Given the description of an element on the screen output the (x, y) to click on. 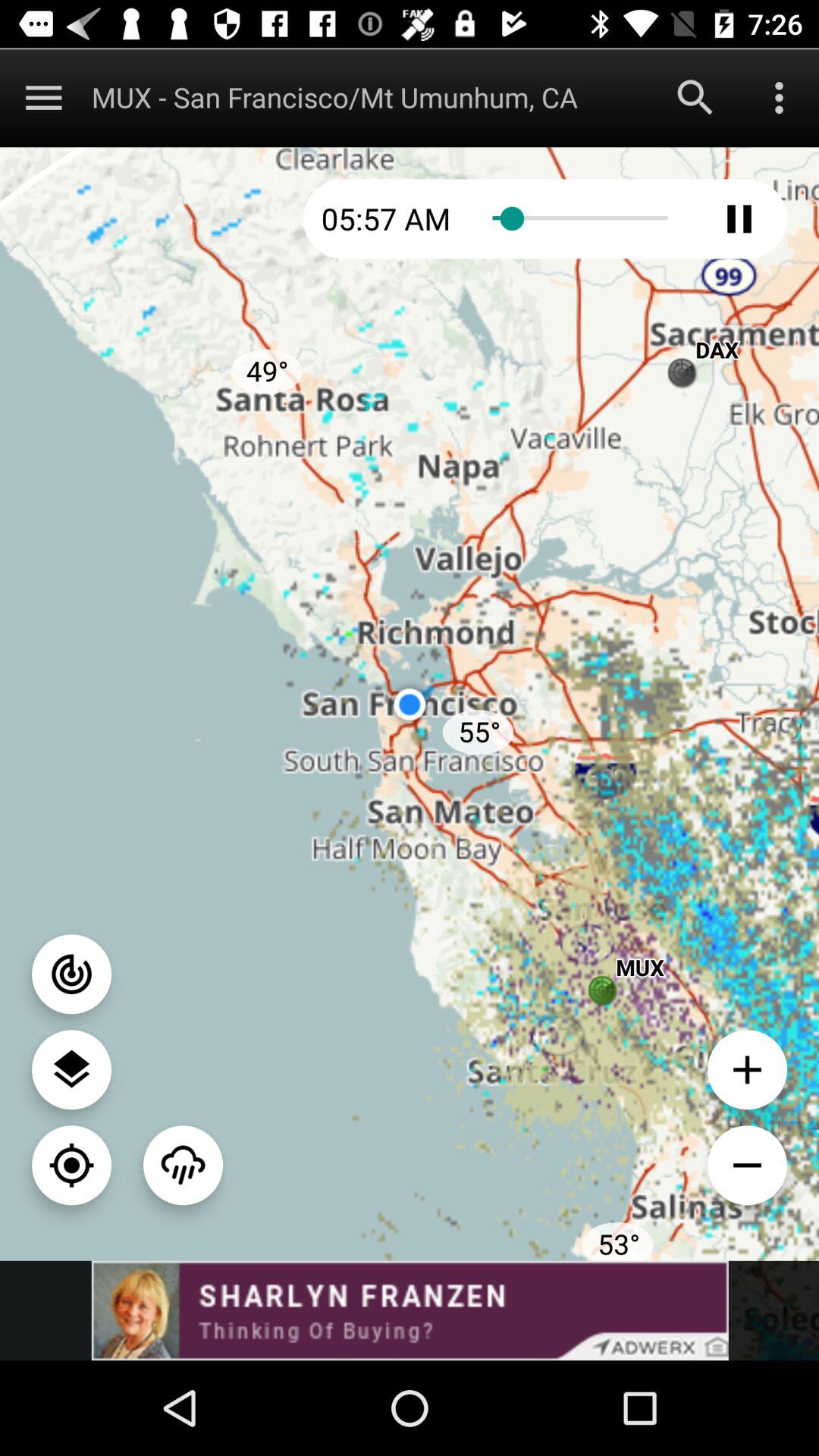
search function (695, 97)
